Given the description of an element on the screen output the (x, y) to click on. 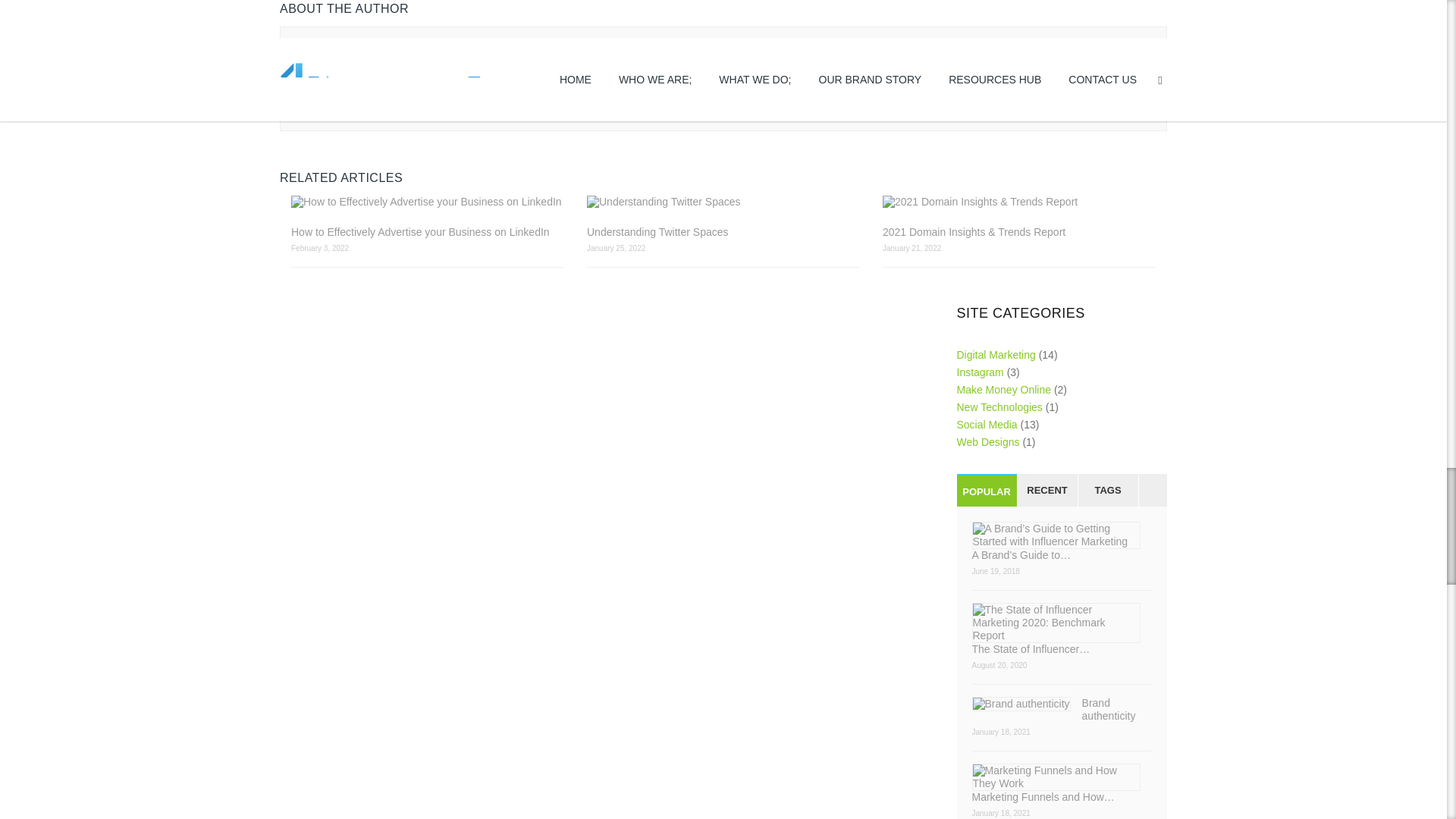
The State of Influencer Marketing 2020: Benchmark Report (1062, 629)
Permalink to Understanding Twitter Spaces (723, 232)
Permalink to Understanding Twitter Spaces (723, 201)
Marketing Funnels and How They Work (1062, 783)
Brand authenticity (1062, 709)
